Given the description of an element on the screen output the (x, y) to click on. 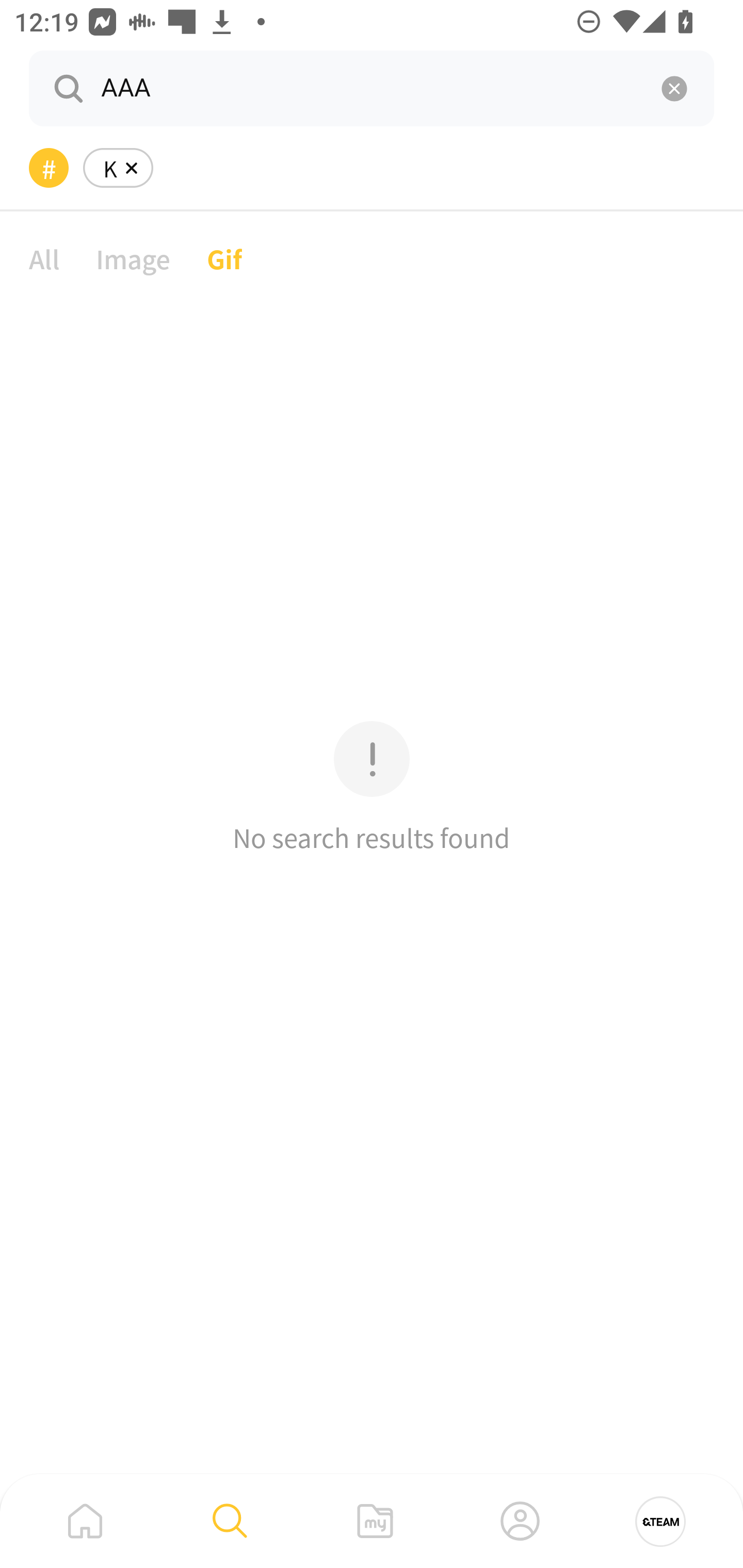
All (44, 257)
Image (132, 257)
Gif (224, 257)
